Given the description of an element on the screen output the (x, y) to click on. 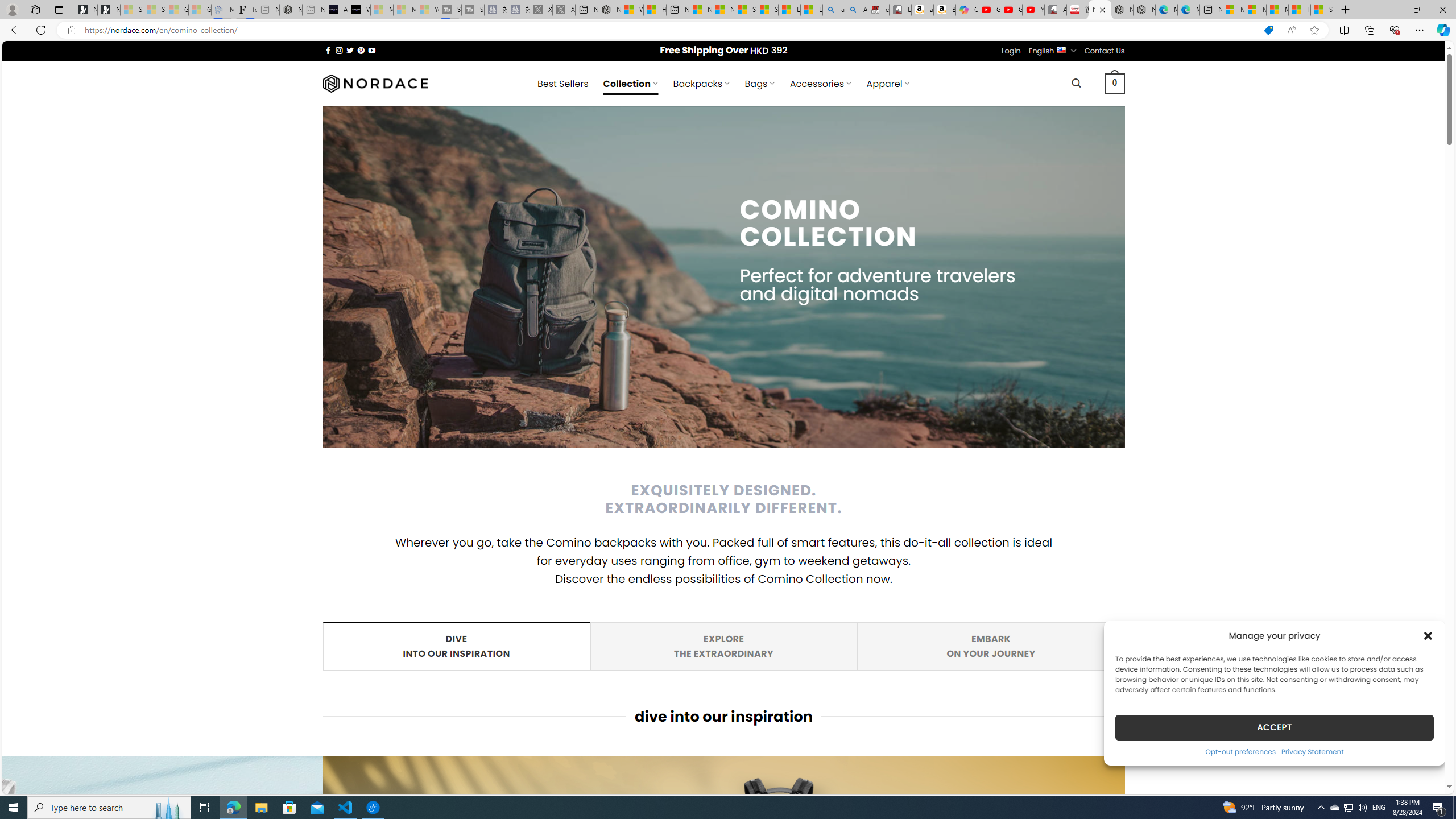
Follow on Twitter (349, 49)
EXPLORE THE EXTRAORDINARY (723, 645)
Login (1010, 50)
Amazon Echo Dot PNG - Search Images (856, 9)
Follow on Pinterest (360, 49)
English (1061, 49)
Opt-out preferences (1240, 750)
